Given the description of an element on the screen output the (x, y) to click on. 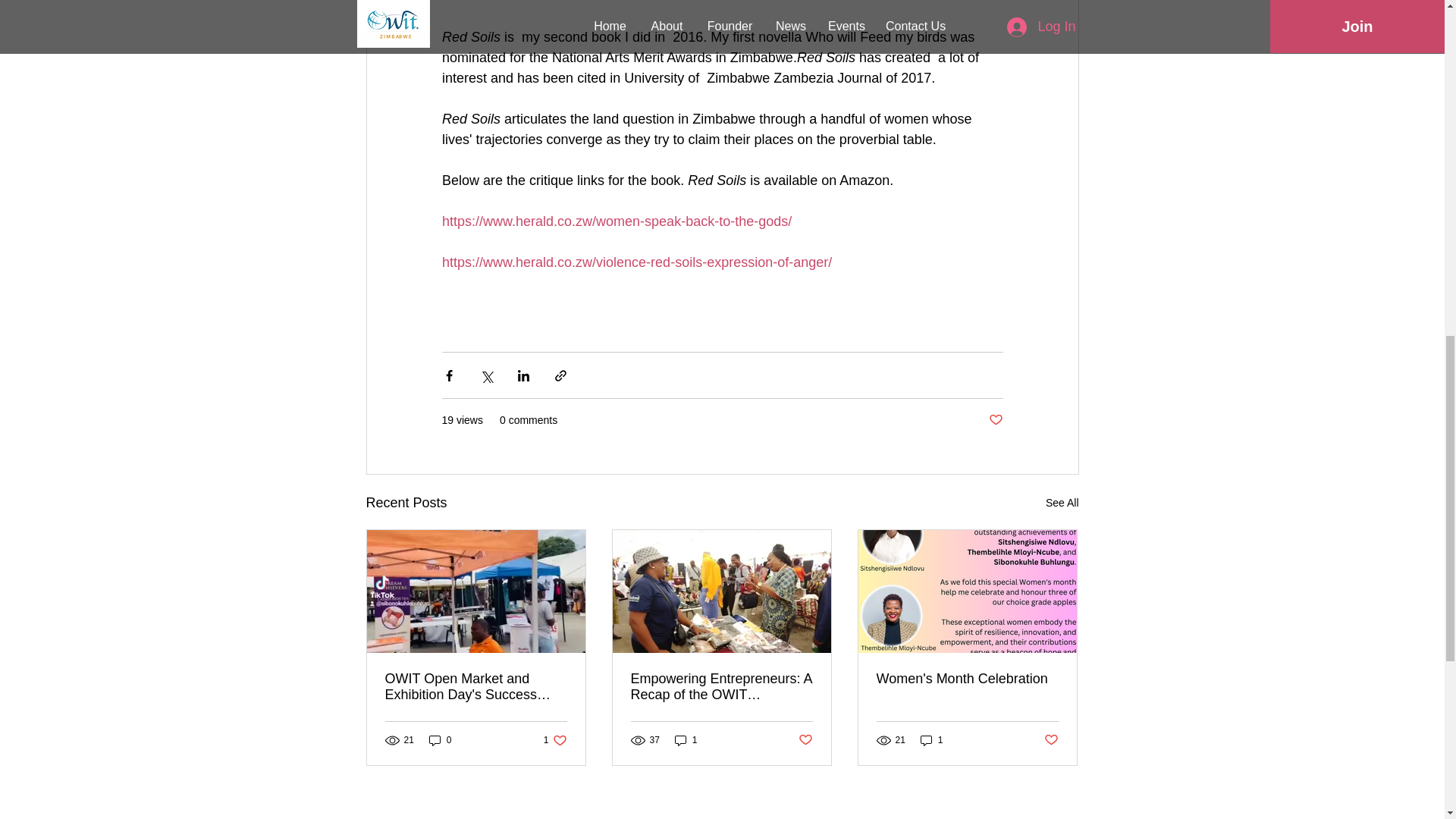
Post not marked as liked (804, 740)
Post not marked as liked (555, 739)
Women's Month Celebration (995, 420)
1 (967, 678)
0 (685, 739)
See All (440, 739)
Post not marked as liked (1061, 503)
